Given the description of an element on the screen output the (x, y) to click on. 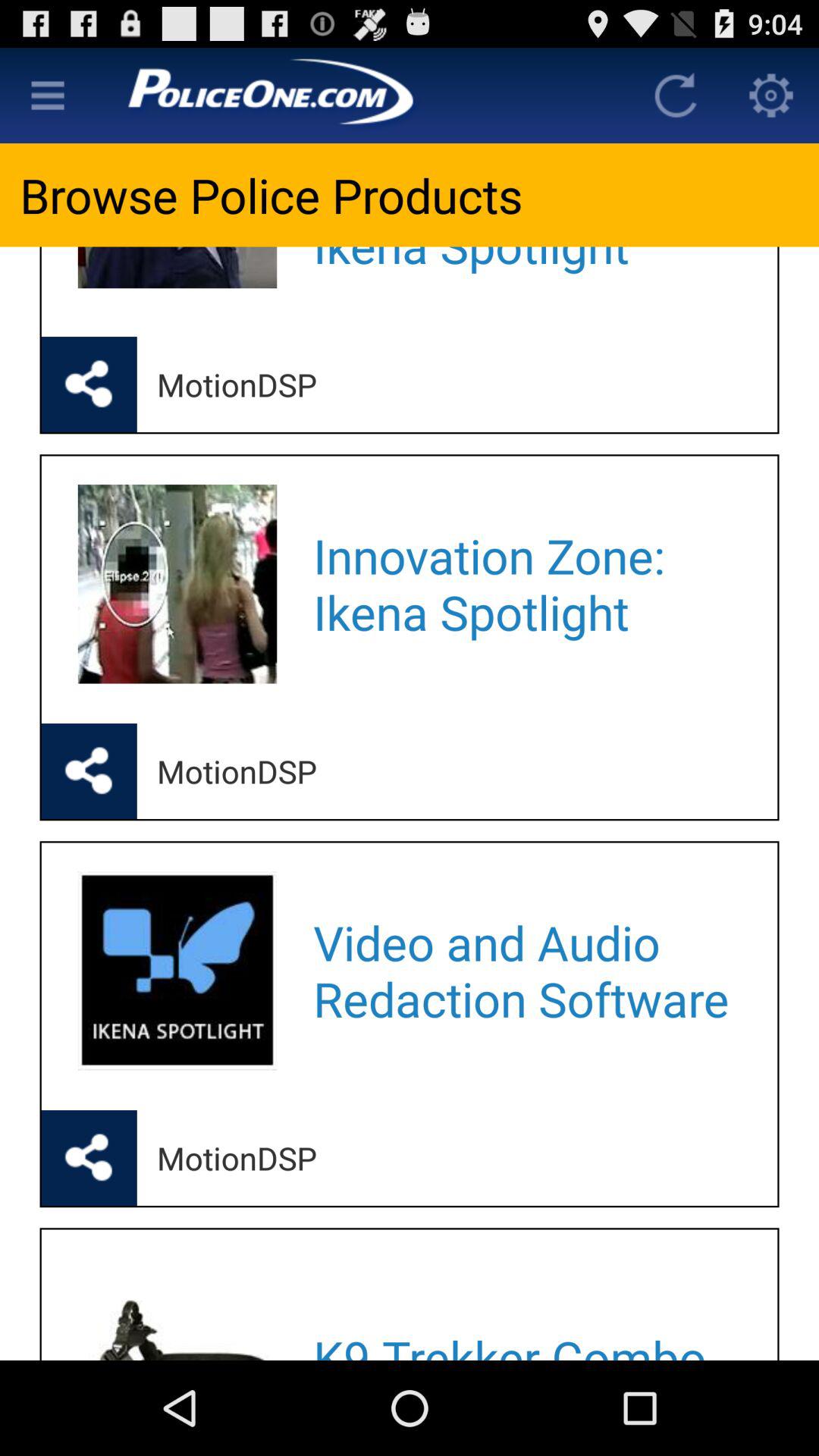
jump to the innovation zone ikena icon (525, 583)
